Given the description of an element on the screen output the (x, y) to click on. 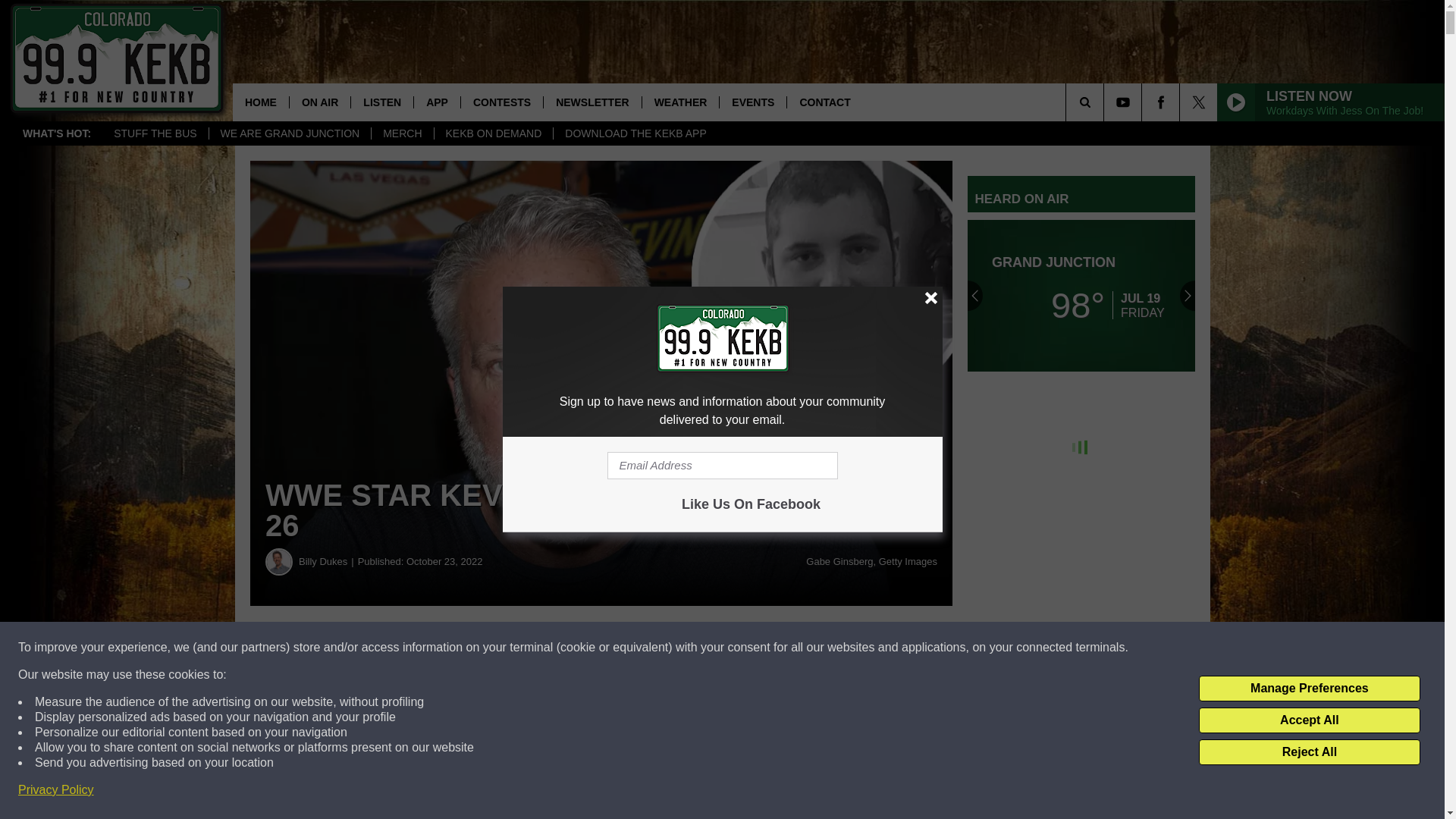
Share on Facebook (460, 647)
WE ARE GRAND JUNCTION (289, 133)
WHAT'S HOT: (56, 133)
Reject All (1309, 751)
CONTESTS (501, 102)
STUFF THE BUS (154, 133)
Manage Preferences (1309, 688)
DOWNLOAD THE KEKB APP (635, 133)
Email Address (722, 465)
Accept All (1309, 720)
HOME (260, 102)
MERCH (401, 133)
Share on Twitter (741, 647)
SEARCH (1106, 102)
APP (436, 102)
